Given the description of an element on the screen output the (x, y) to click on. 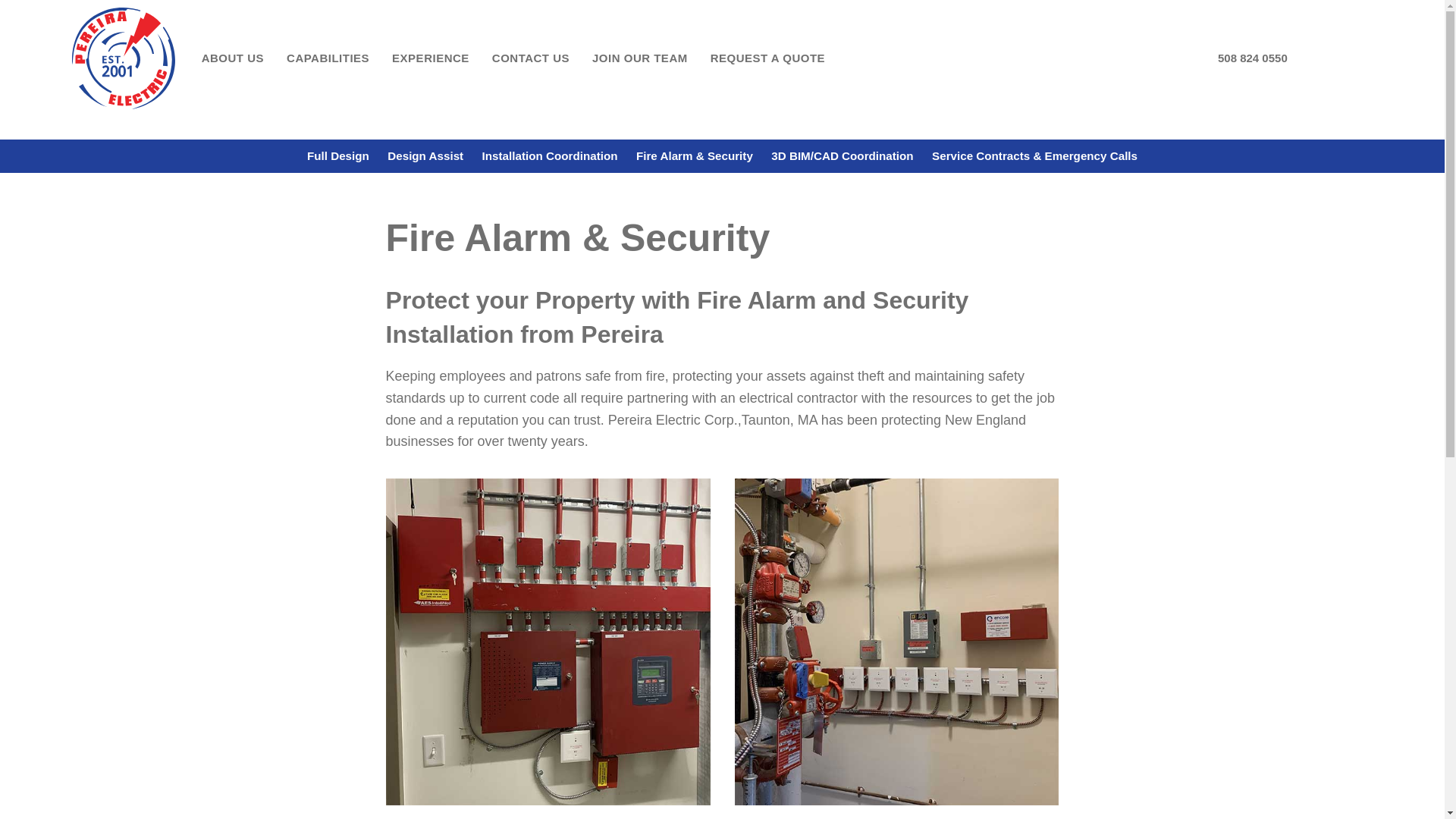
Design Assist (425, 155)
CONTACT US (530, 57)
508 824 0550 (1252, 56)
ABOUT US (232, 57)
EXPERIENCE (429, 57)
CAPABILITIES (327, 57)
Installation Coordination (549, 155)
Apply (639, 57)
REQUEST A QUOTE (767, 57)
JOIN OUR TEAM (639, 57)
Full Design (338, 155)
